Given the description of an element on the screen output the (x, y) to click on. 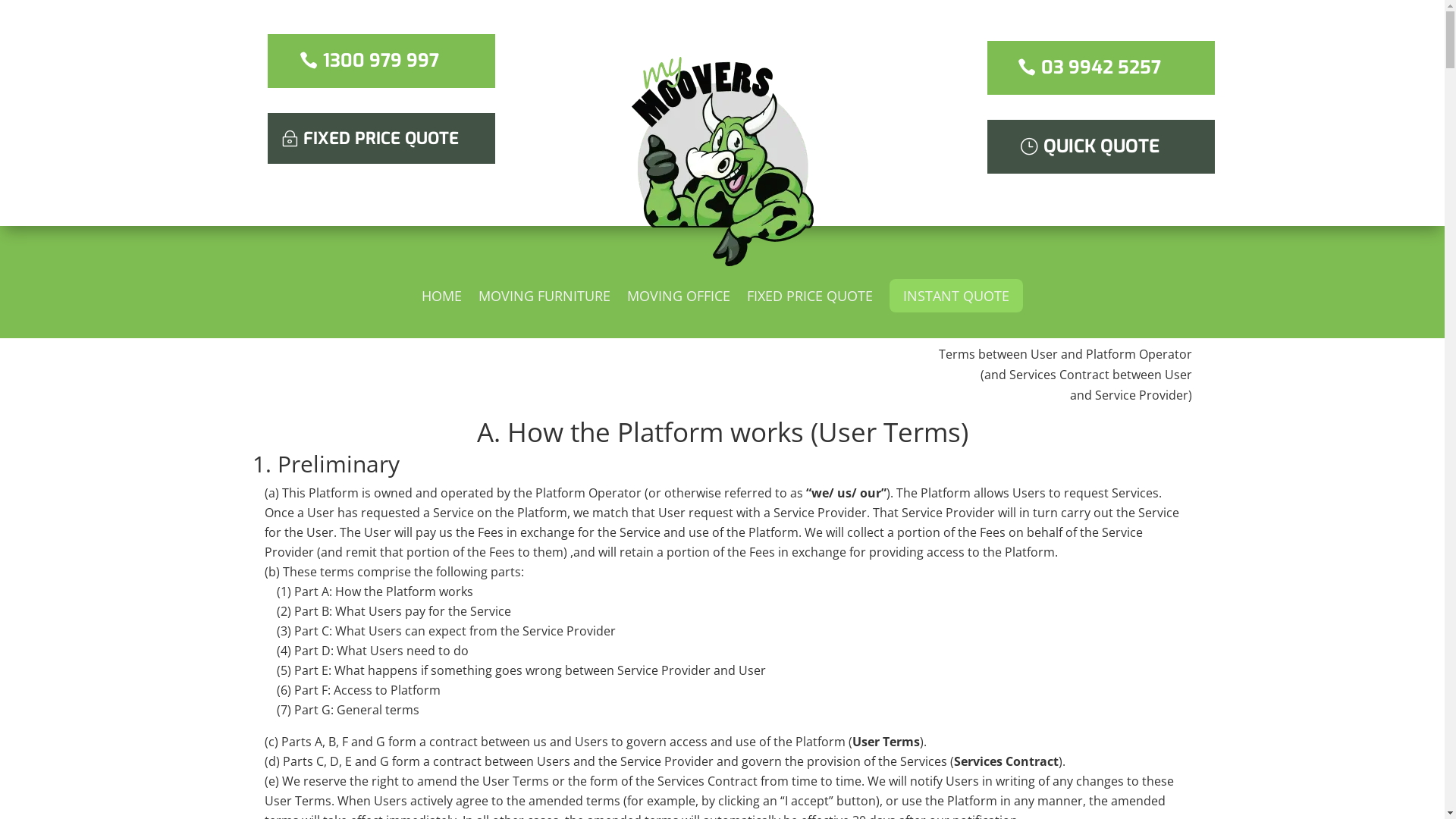
MOVING OFFICE Element type: text (678, 306)
MOVING FURNITURE Element type: text (544, 306)
FIXED PRICE QUOTE Element type: text (380, 137)
INSTANT QUOTE Element type: text (955, 295)
FIXED PRICE QUOTE Element type: text (809, 306)
03 9942 5257 Element type: text (1100, 67)
QUICK QUOTE Element type: text (1100, 146)
HOME Element type: text (441, 306)
1300 979 997 Element type: text (380, 60)
